Given the description of an element on the screen output the (x, y) to click on. 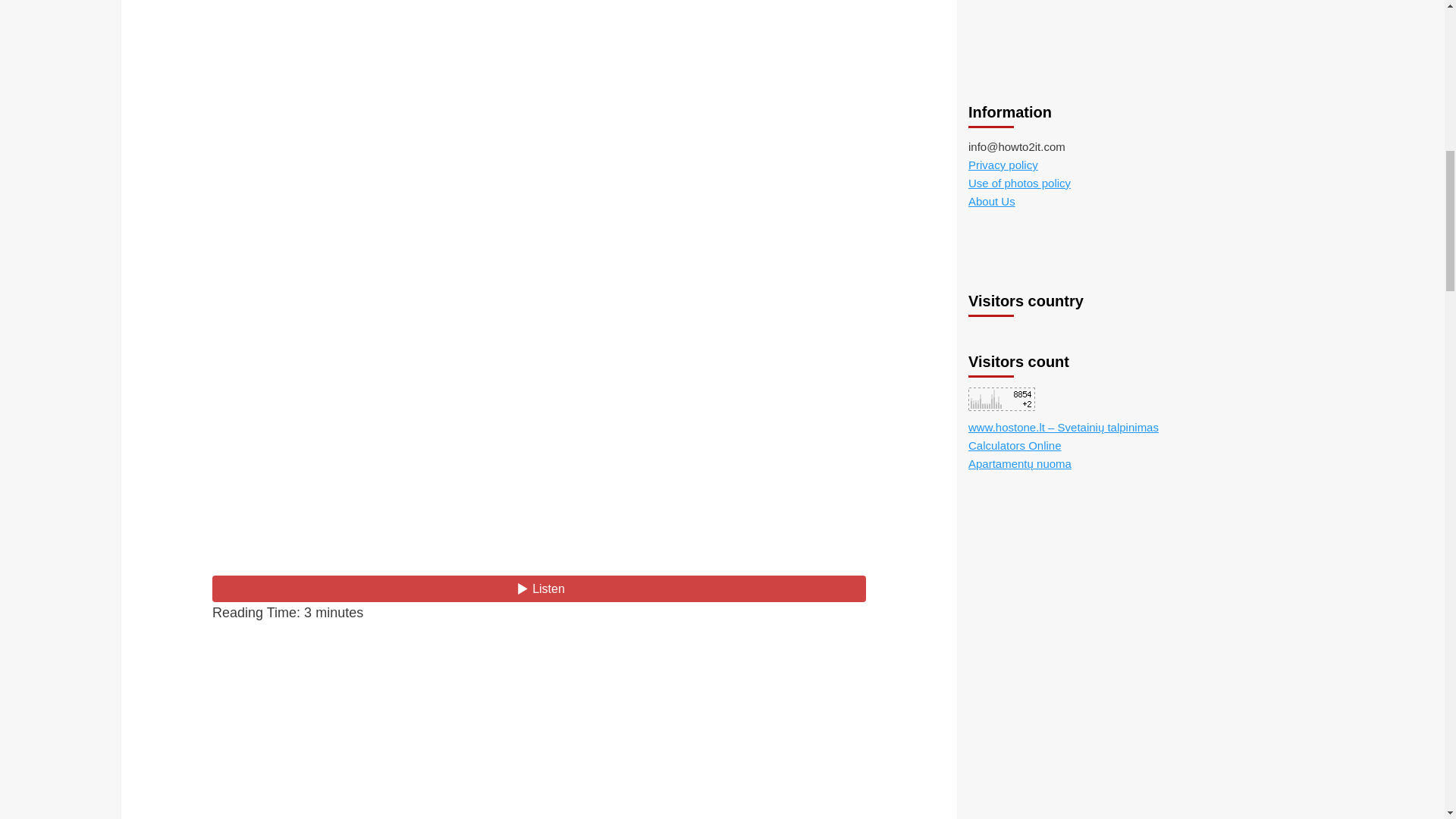
Text To Audio:  Tap to listen post. (539, 588)
Listen (539, 588)
Online Calculators - Infolaikas (1014, 41)
